Given the description of an element on the screen output the (x, y) to click on. 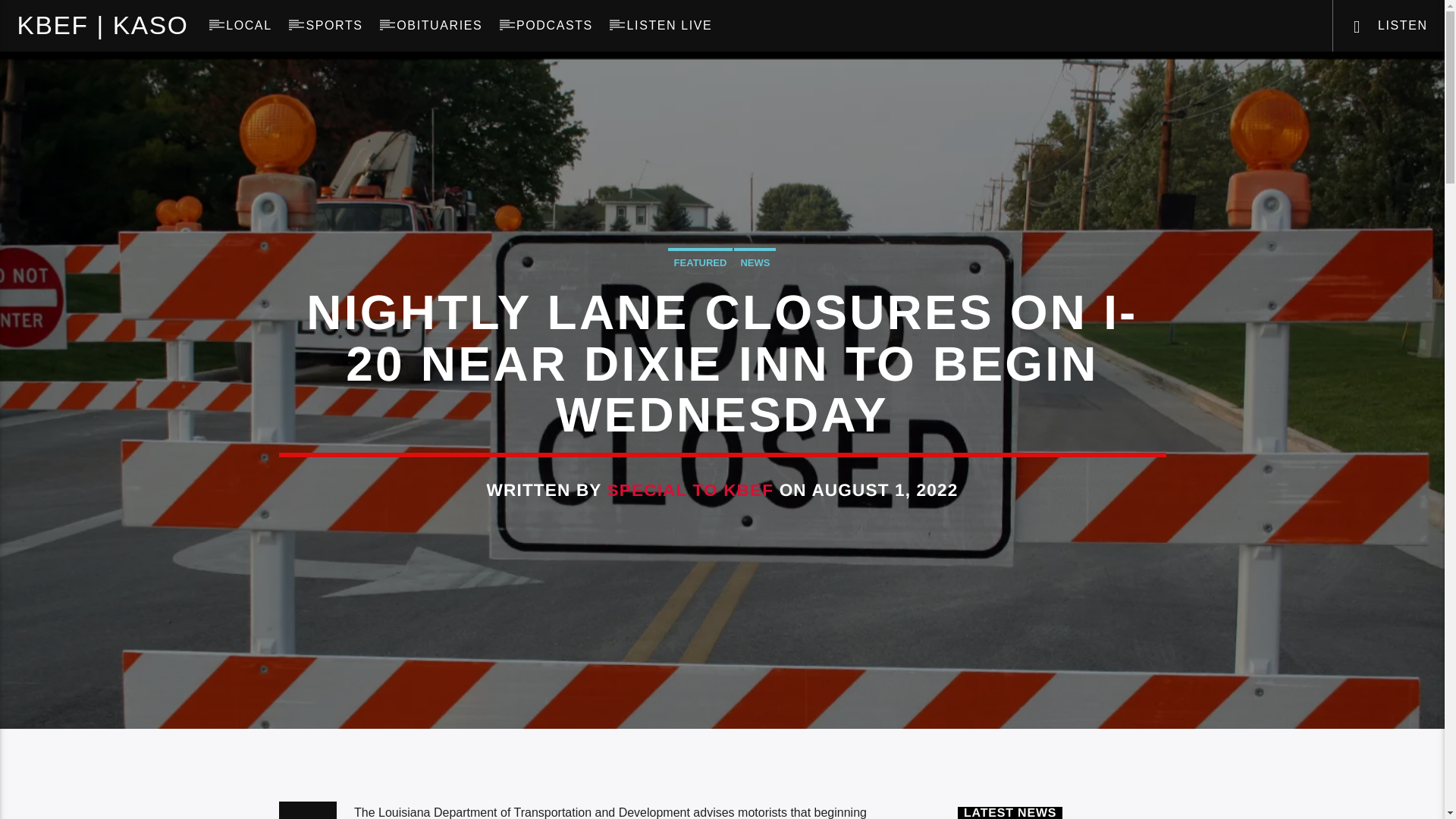
LISTEN LIVE (669, 25)
Posts by Special to KBEF (690, 489)
Search (1203, 75)
FEATURED (700, 261)
PODCASTS (554, 25)
OBITUARIES (439, 25)
LOCAL (248, 25)
SPORTS (334, 25)
NEWS (754, 261)
SPECIAL TO KBEF (690, 489)
